Given the description of an element on the screen output the (x, y) to click on. 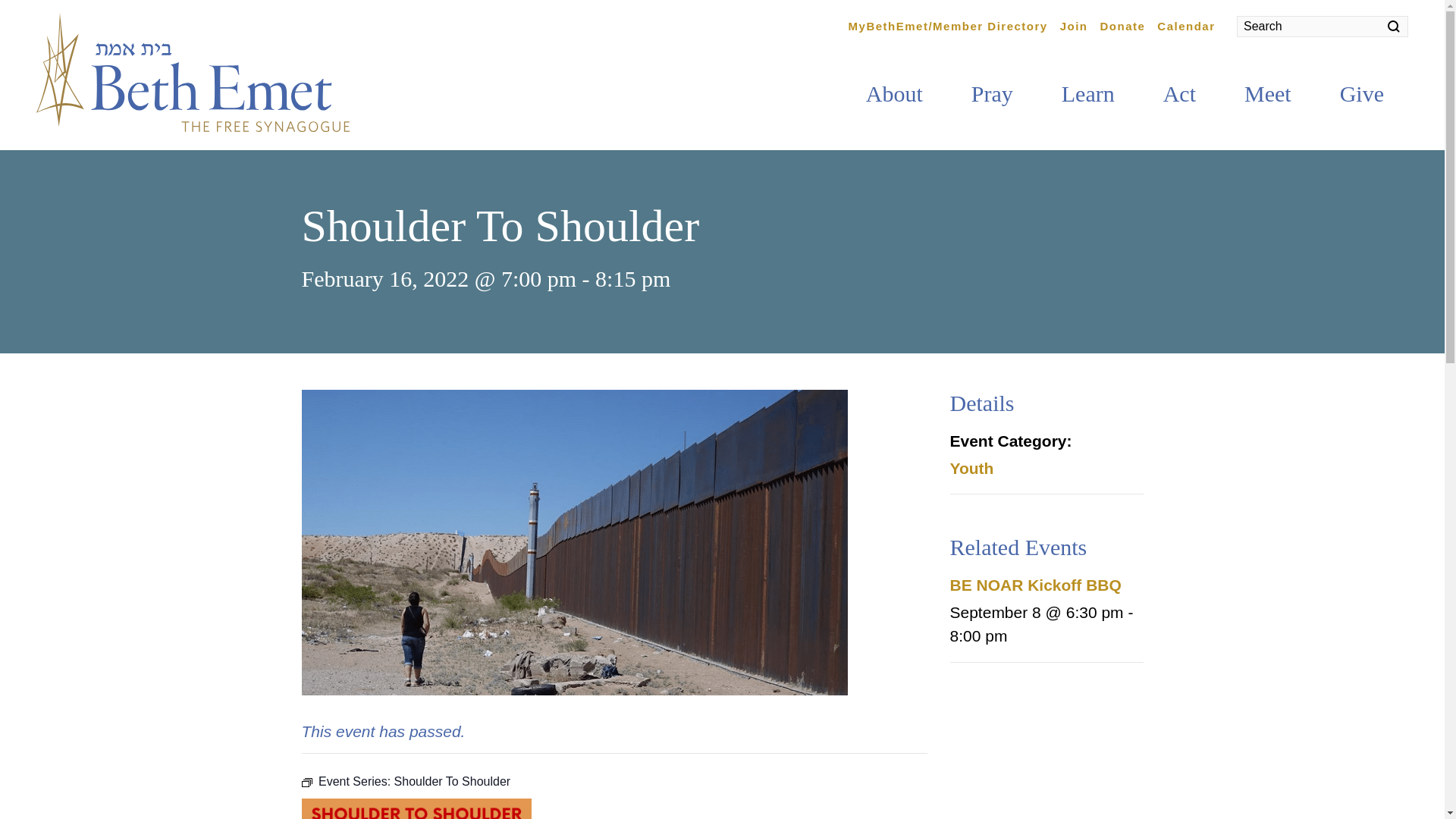
About (894, 93)
Pray (991, 93)
Search for: (1321, 25)
Join (1074, 24)
Donate (1122, 24)
Calendar (1186, 24)
Learn (1087, 93)
